Given the description of an element on the screen output the (x, y) to click on. 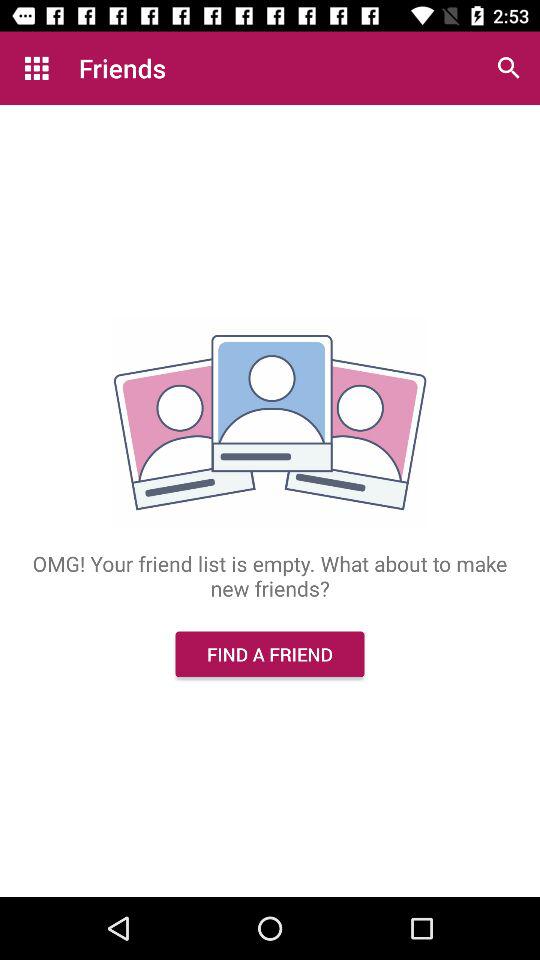
press the item next to the friends icon (508, 67)
